Given the description of an element on the screen output the (x, y) to click on. 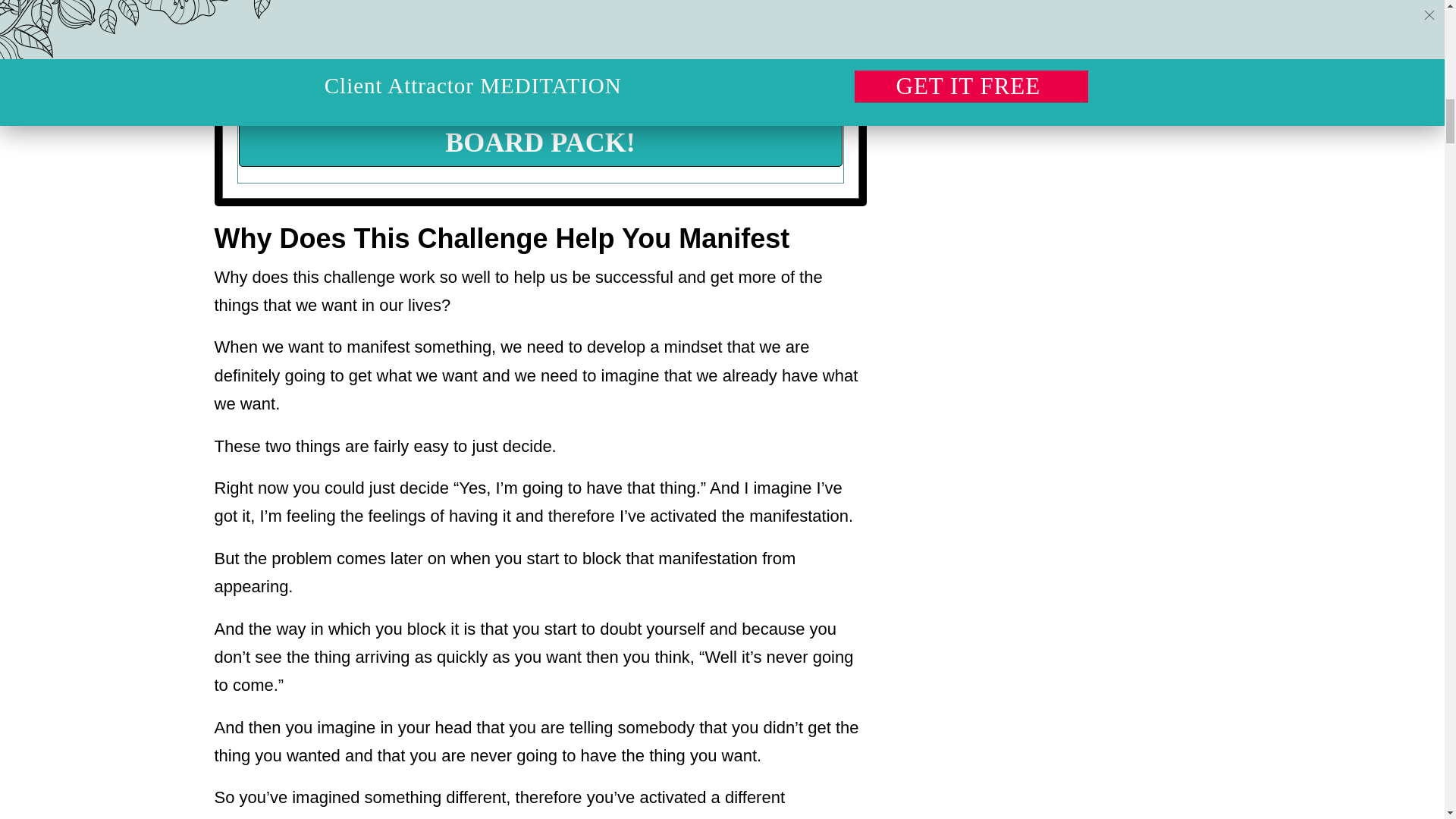
YES!  GIVE ME THE MANIFESTATION BOARD PACK! (539, 129)
